Given the description of an element on the screen output the (x, y) to click on. 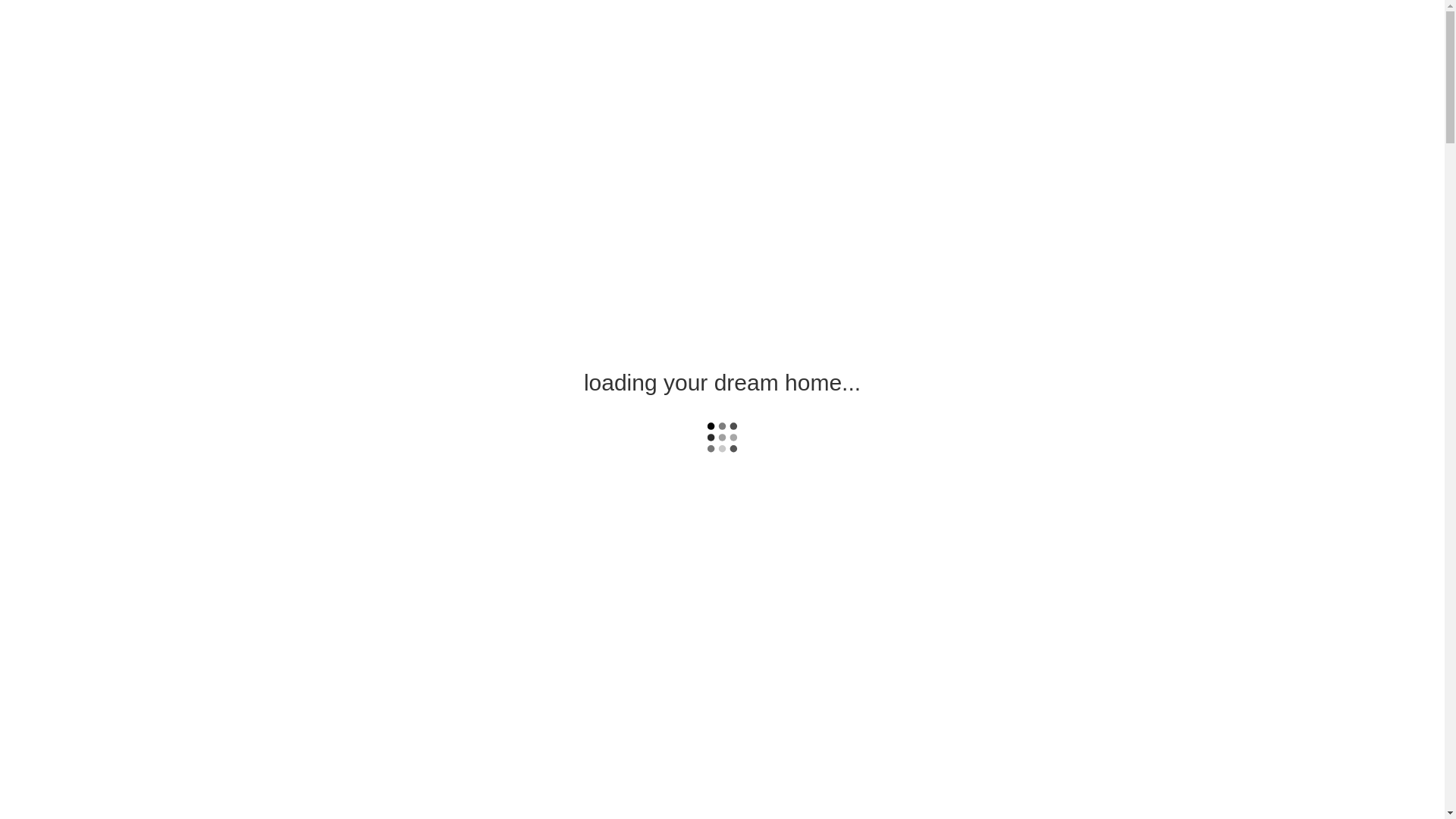
GALLERY Element type: text (665, 37)
SCHEDULE & CONTACT Element type: text (999, 37)
FEATURES Element type: text (821, 37)
VIDEO TOUR Element type: text (741, 37)
1 South Park Street #411 Element type: text (375, 34)
LOCATION Element type: text (894, 37)
1 SOUTH PARK STREET #411 Element type: text (721, 511)
